Given the description of an element on the screen output the (x, y) to click on. 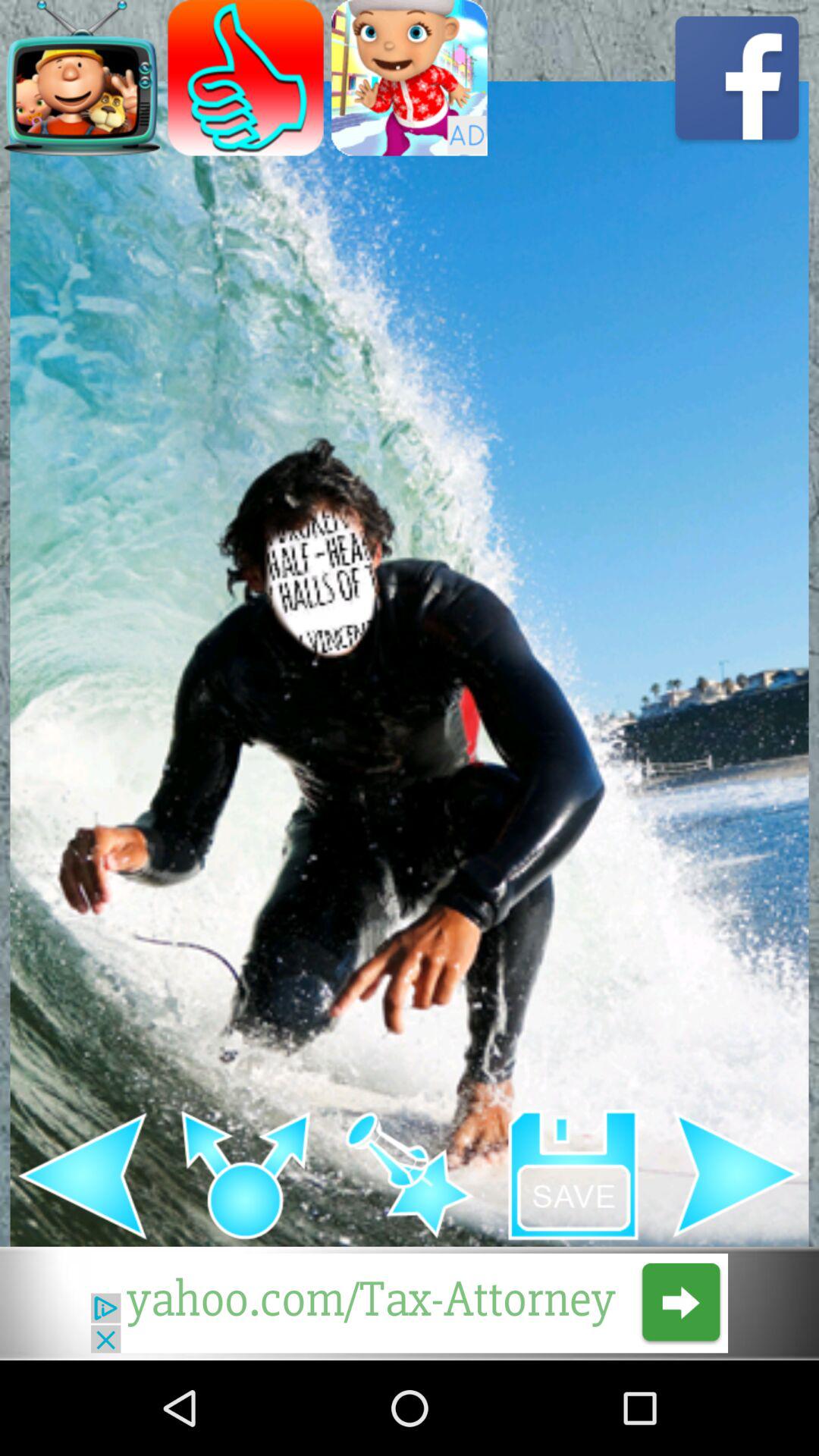
save (573, 1174)
